Given the description of an element on the screen output the (x, y) to click on. 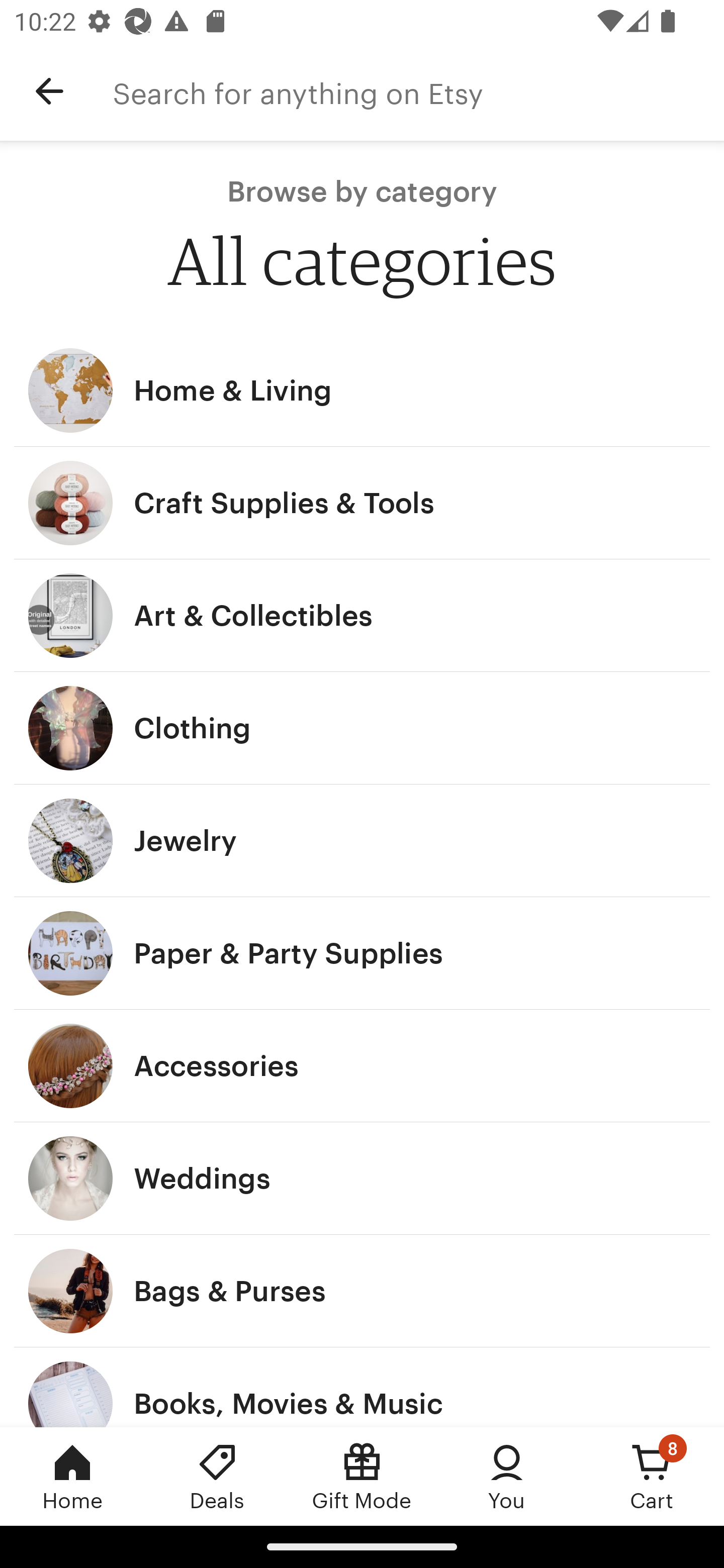
Navigate up (49, 91)
Search for anything on Etsy (418, 91)
Home & Living (361, 389)
Craft Supplies & Tools (361, 502)
Art & Collectibles (361, 615)
Clothing (361, 728)
Jewelry (361, 840)
Paper & Party Supplies (361, 952)
Accessories (361, 1065)
Weddings (361, 1178)
Bags & Purses (361, 1290)
Books, Movies & Music (361, 1386)
Deals (216, 1475)
Gift Mode (361, 1475)
You (506, 1475)
Cart, 8 new notifications Cart (651, 1475)
